Given the description of an element on the screen output the (x, y) to click on. 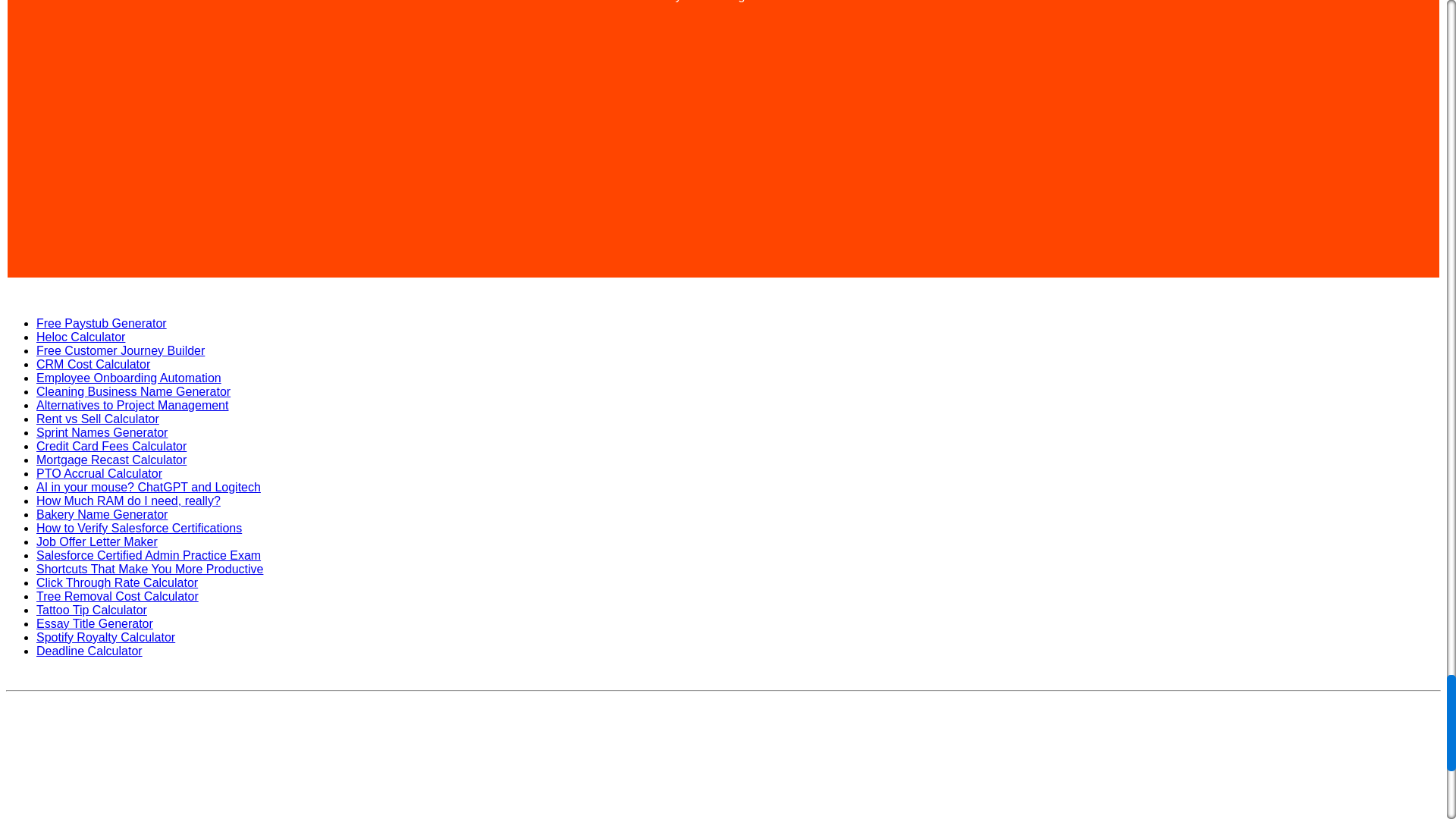
How Much RAM do I need, really? (128, 500)
Sprint Names Generator (101, 431)
Free Customer Journey Builder (120, 350)
Salesforce Certified Admin Practice Exam (148, 554)
Mortgage Recast Calculator (111, 459)
CRM Cost Calculator (92, 364)
Heloc Calculator (80, 336)
Alternatives to Project Management (132, 404)
AI in your mouse? ChatGPT and Logitech (148, 486)
Employee Onboarding Automation (128, 377)
Job Offer Letter Maker (96, 541)
Bakery Name Generator (101, 513)
Credit Card Fees Calculator (111, 445)
PTO Accrual Calculator (98, 472)
Cleaning Business Name Generator (133, 391)
